Given the description of an element on the screen output the (x, y) to click on. 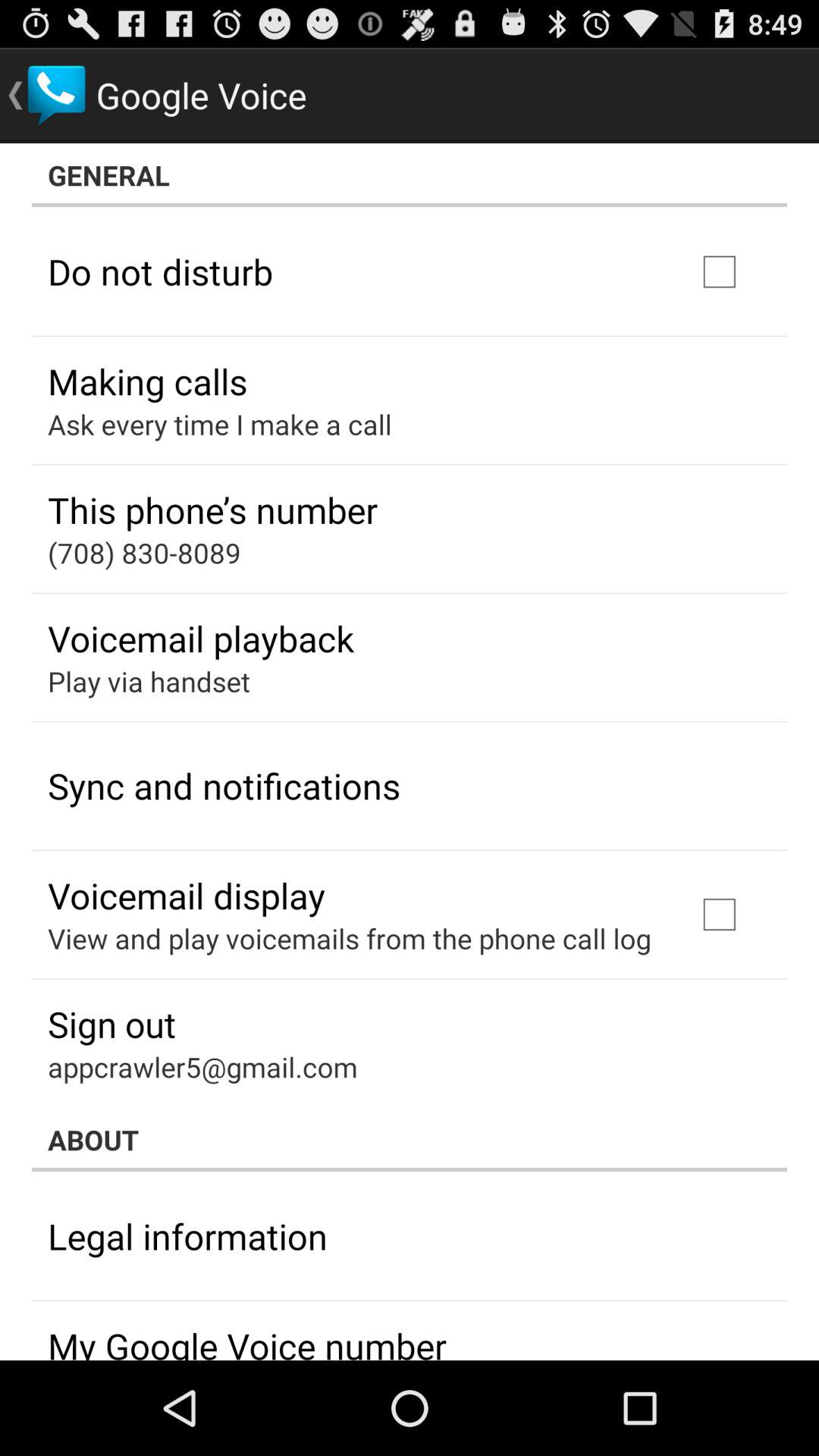
tap the item above the view and play app (186, 895)
